Given the description of an element on the screen output the (x, y) to click on. 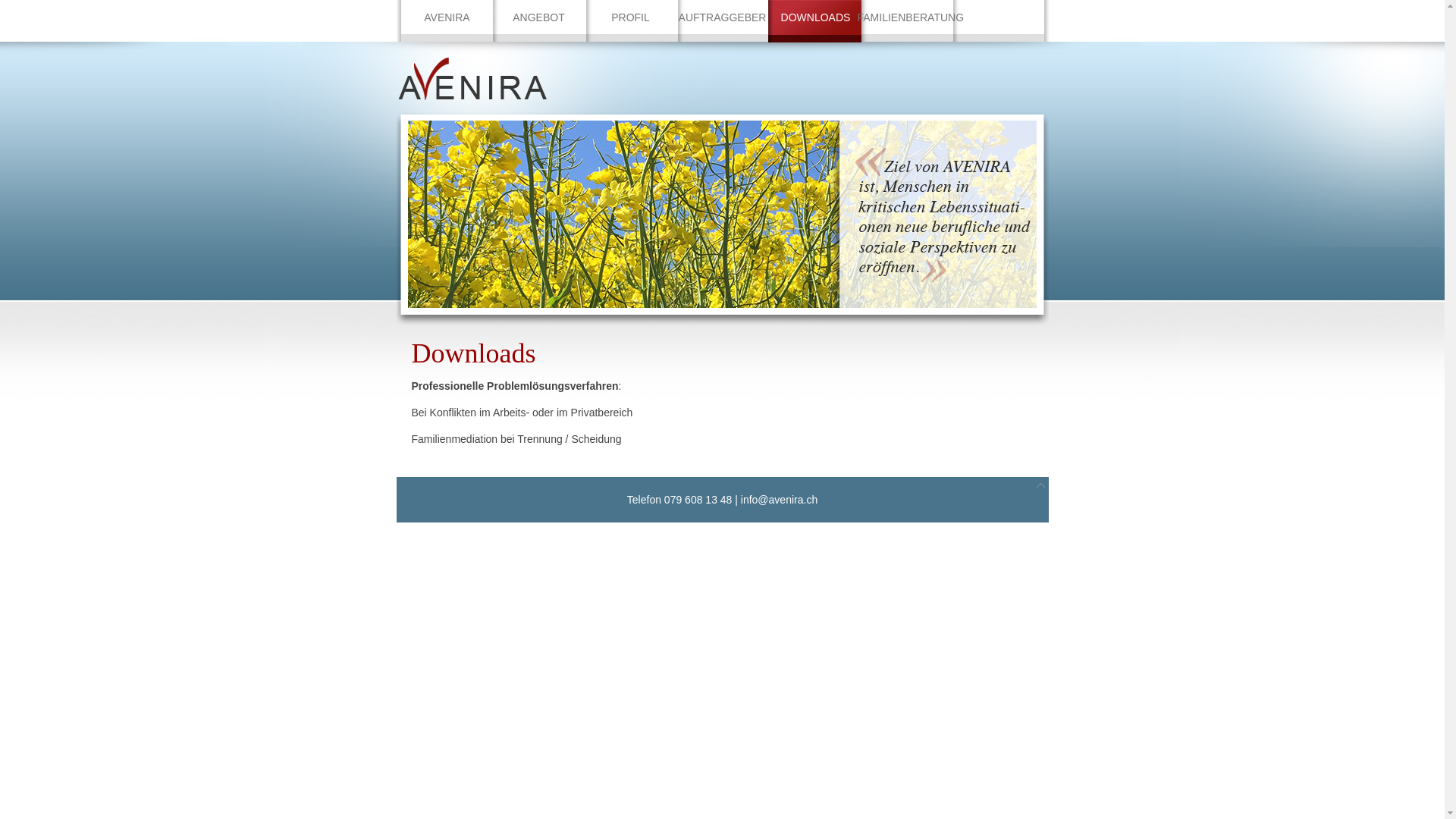
PROFIL Element type: text (630, 17)
DOWNLOADS Element type: text (814, 21)
info@avenira.ch Element type: text (778, 499)
FAMILIENBERATUNG Element type: text (904, 17)
AVENIRA Element type: text (446, 17)
AUFTRAGGEBER Element type: text (721, 17)
ANGEBOT Element type: text (537, 17)
